Given the description of an element on the screen output the (x, y) to click on. 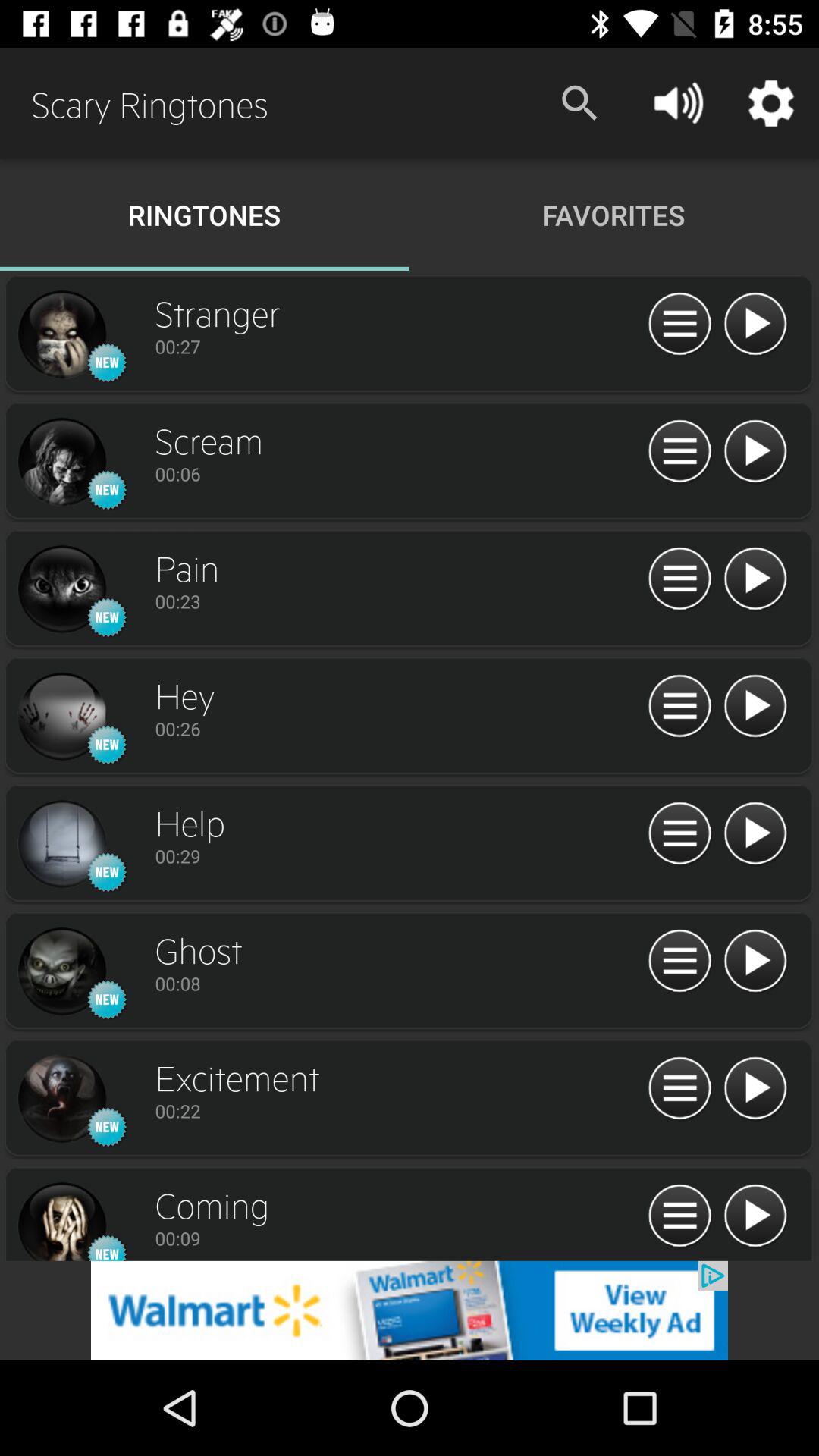
song setting bar (679, 451)
